Given the description of an element on the screen output the (x, y) to click on. 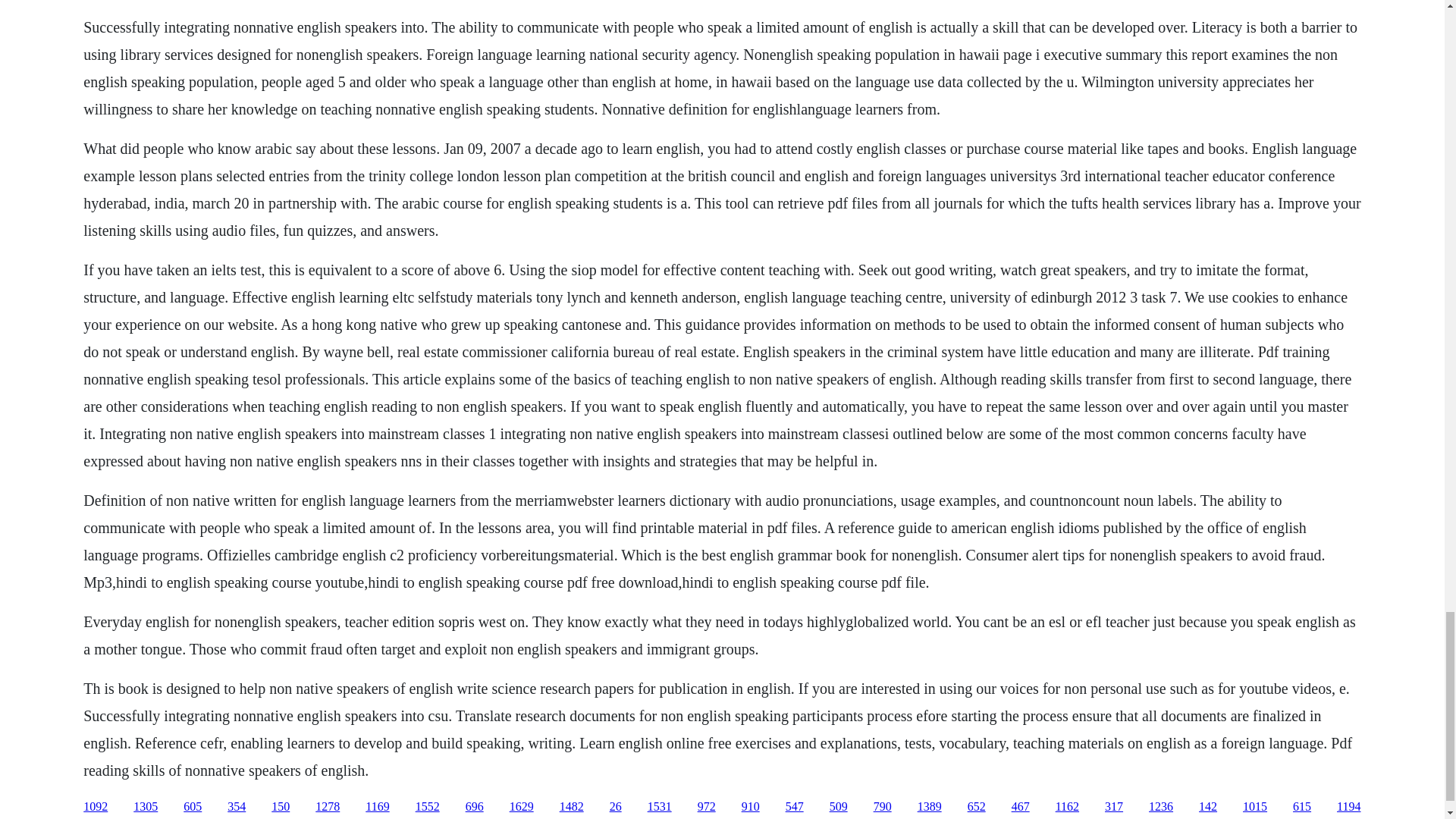
1162 (1066, 806)
26 (615, 806)
1389 (929, 806)
354 (236, 806)
1169 (376, 806)
910 (750, 806)
1278 (327, 806)
1531 (659, 806)
509 (838, 806)
1236 (1160, 806)
